Given the description of an element on the screen output the (x, y) to click on. 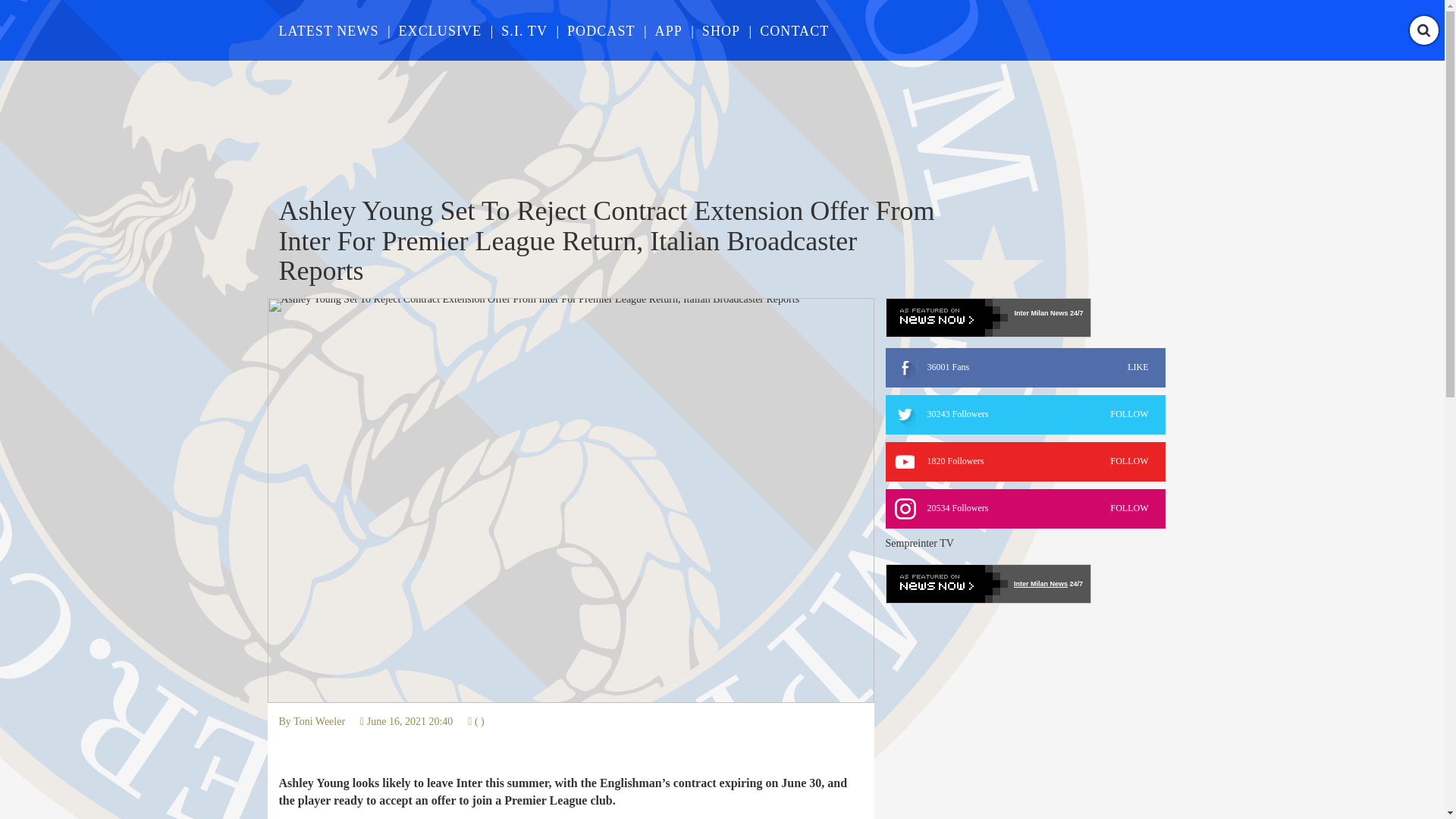
S.I. TV (1025, 461)
CONTACT (523, 30)
View more articles by Toni Weeler (794, 30)
Click here for more Inter Milan News from NewsNow (319, 721)
LATEST NEWS (1025, 414)
Inter Milan News (987, 317)
PODCAST (328, 30)
Inter Milan News (1040, 312)
Click here for more Inter Milan News from NewsNow (600, 30)
APP (1040, 583)
